Given the description of an element on the screen output the (x, y) to click on. 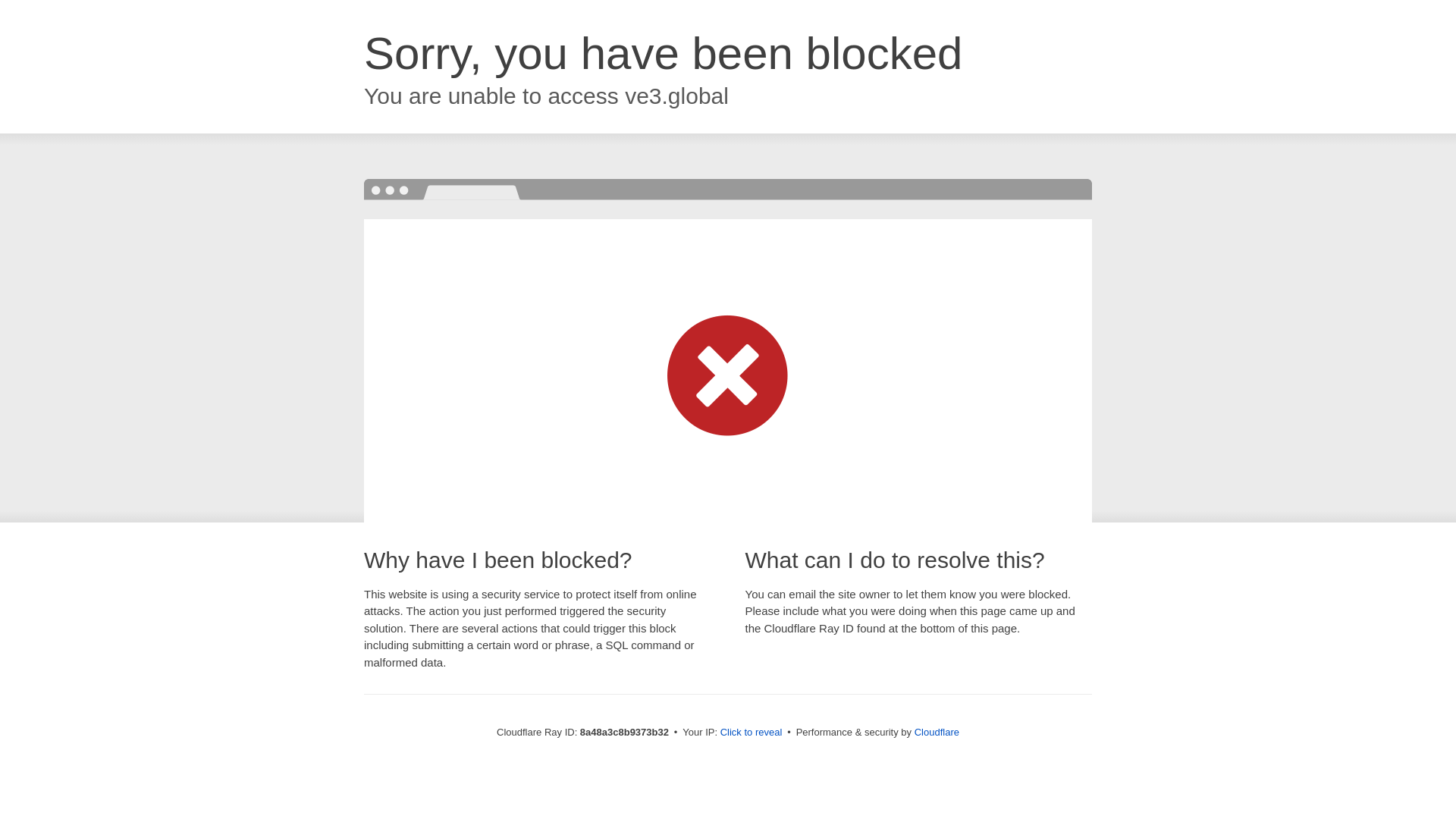
Cloudflare (936, 731)
Click to reveal (751, 732)
